Given the description of an element on the screen output the (x, y) to click on. 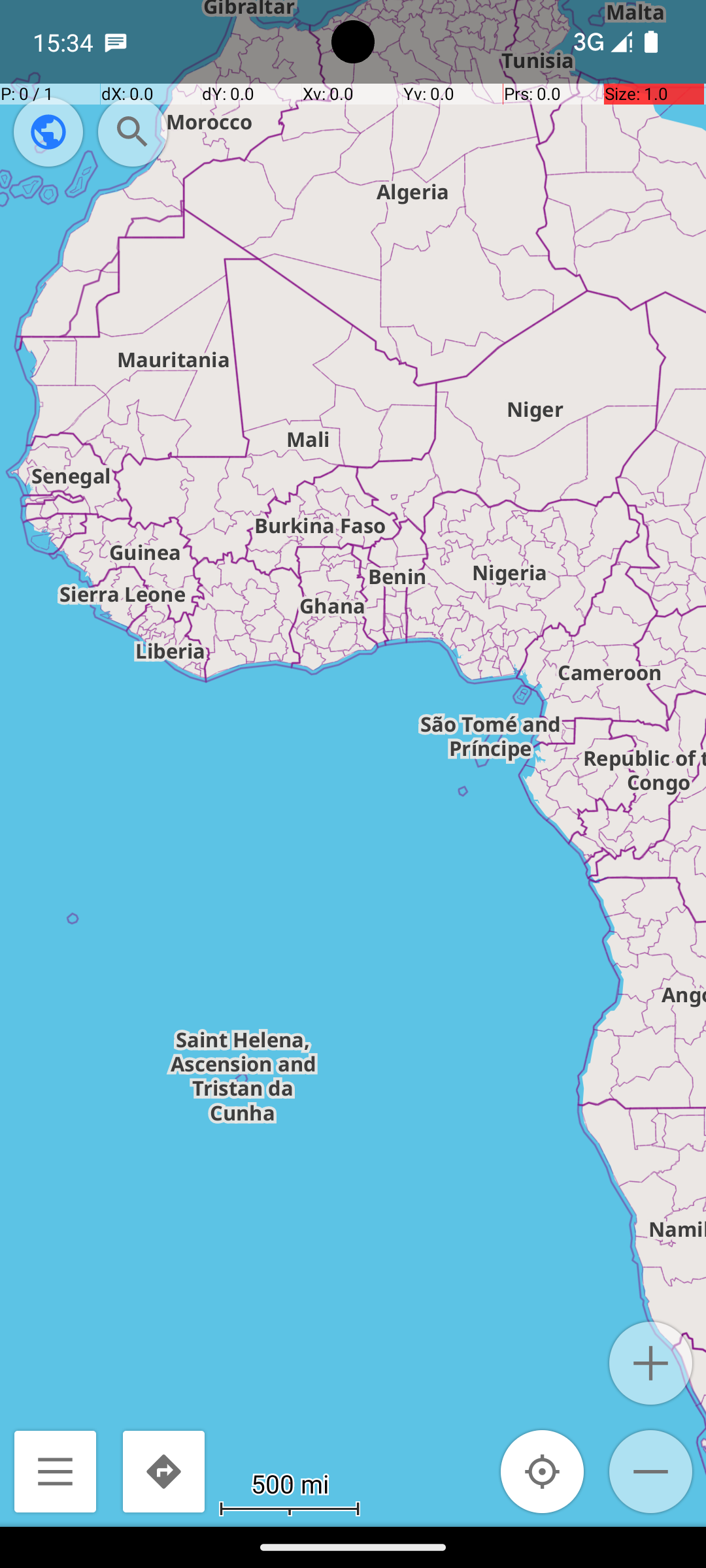
500 mi Element type: android.widget.TextView (289, 1483)
